Given the description of an element on the screen output the (x, y) to click on. 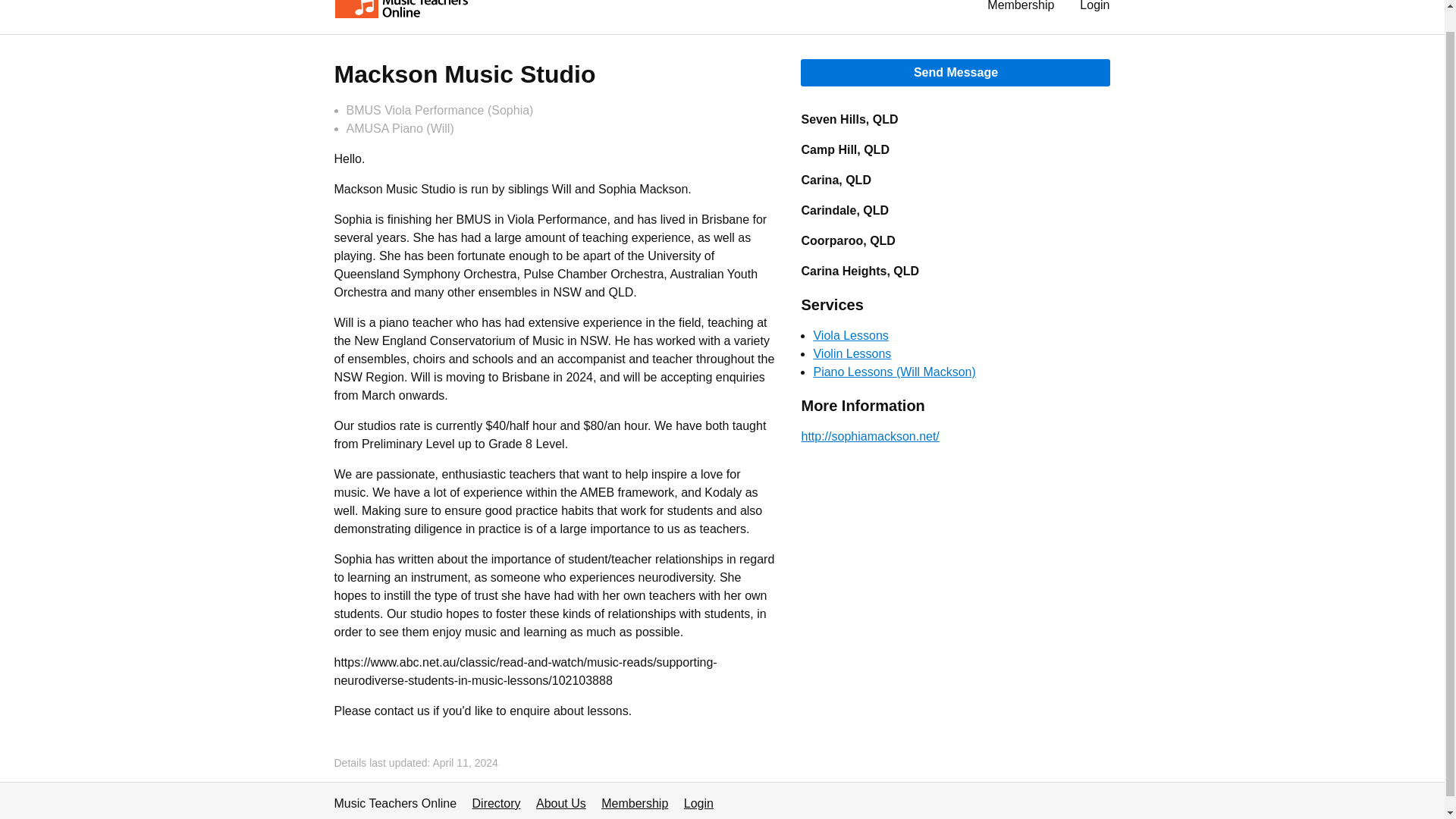
Membership (1020, 9)
Violin Lessons (851, 353)
Login (1094, 9)
Viola Lessons (850, 335)
Login (698, 802)
Directory (496, 802)
About Us (560, 802)
Membership (634, 802)
Send Message (954, 72)
